Given the description of an element on the screen output the (x, y) to click on. 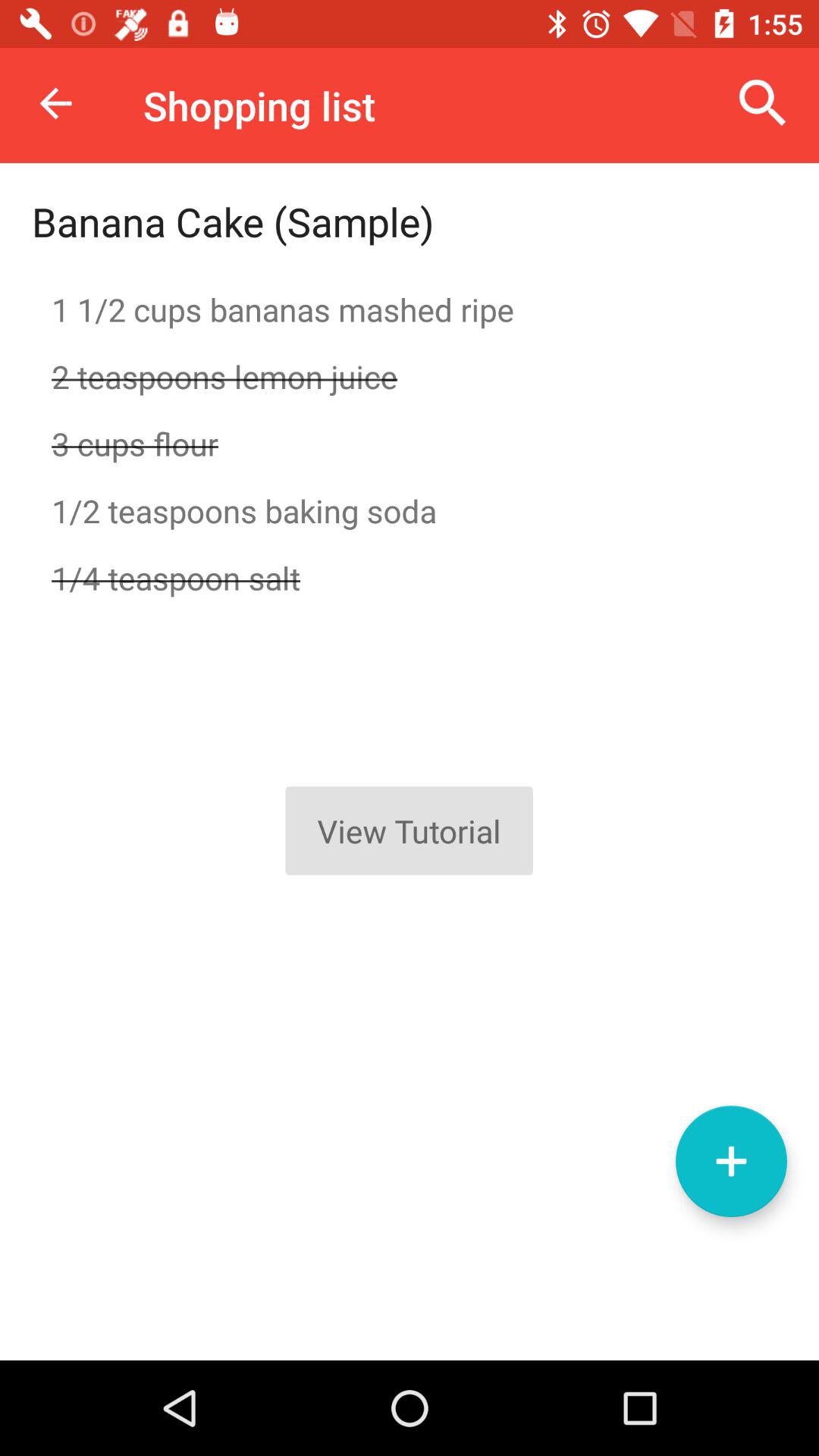
click item next to shopping list (55, 103)
